Given the description of an element on the screen output the (x, y) to click on. 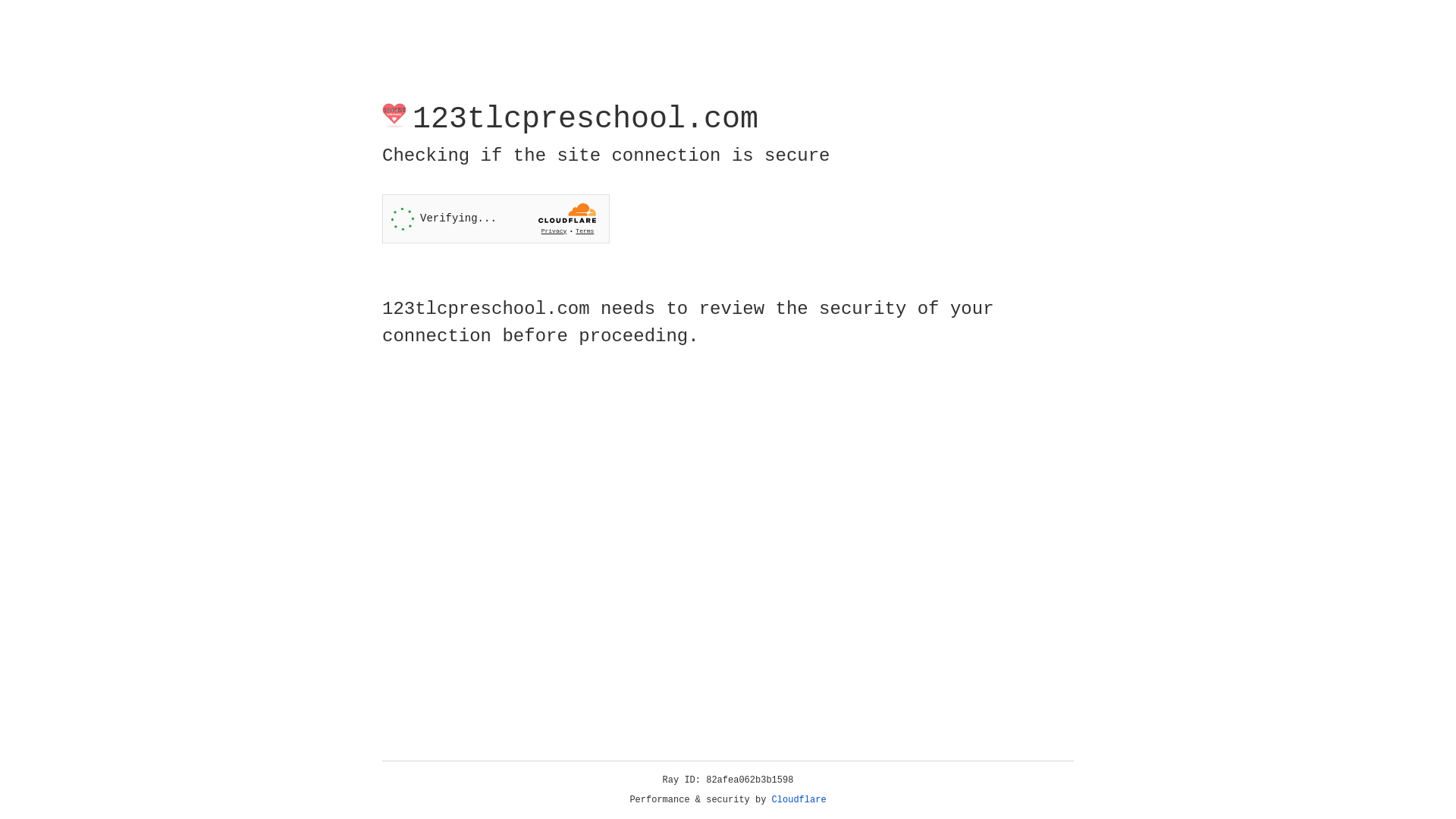
Widget containing a Cloudflare security challenge Element type: hover (495, 218)
Cloudflare Element type: text (798, 799)
